Given the description of an element on the screen output the (x, y) to click on. 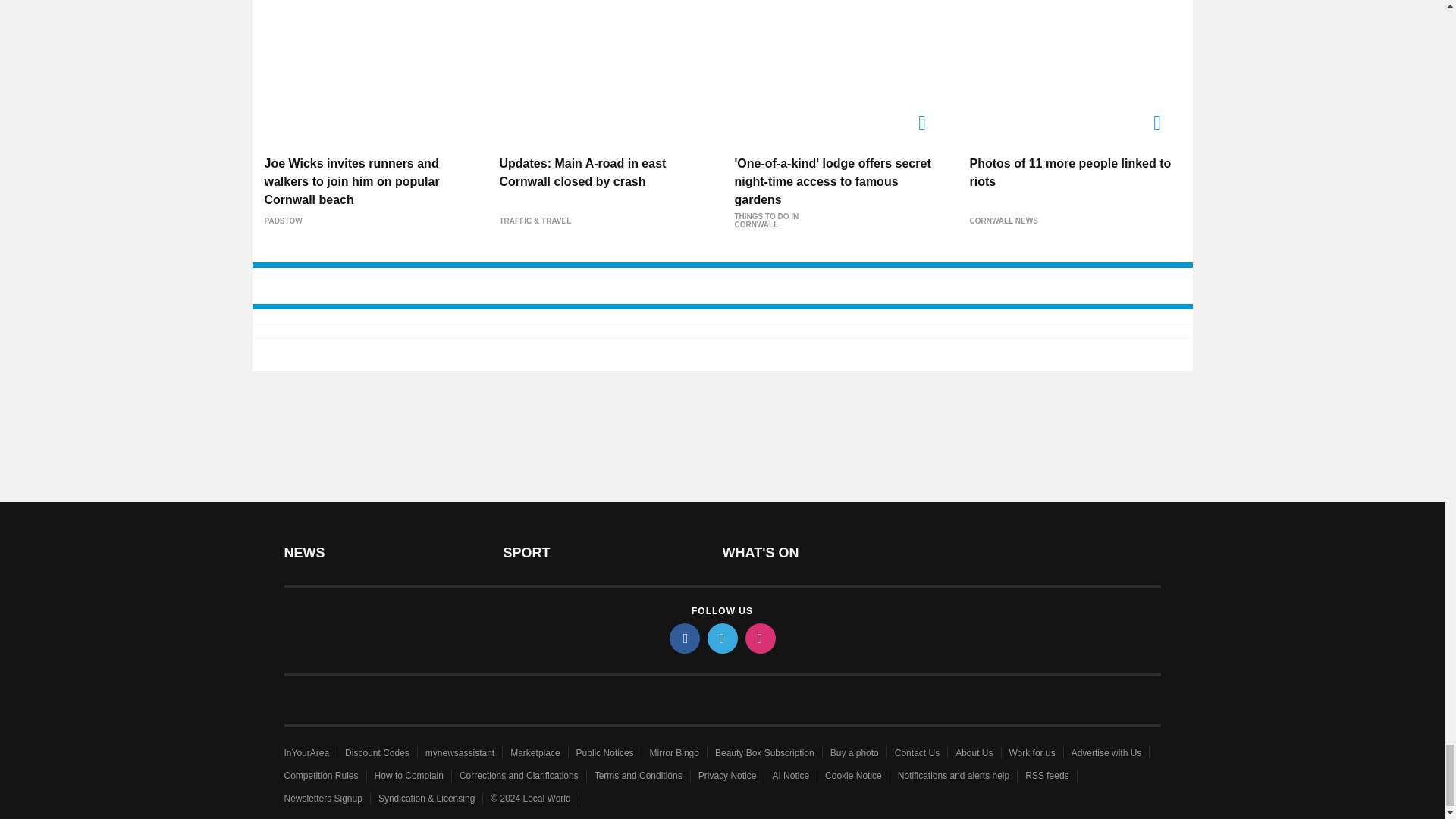
facebook (683, 638)
twitter (721, 638)
instagram (759, 638)
